Given the description of an element on the screen output the (x, y) to click on. 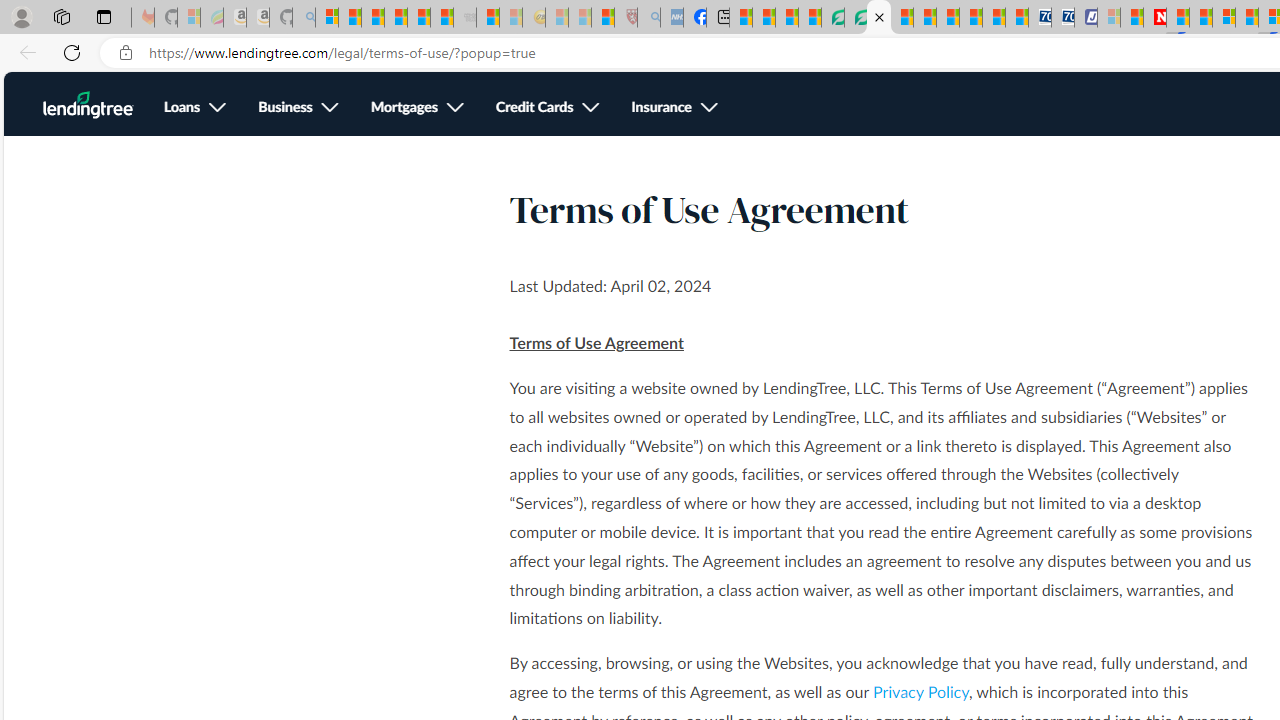
Insurance, see more (675, 107)
Cheap Hotels - Save70.com (1062, 17)
Privacy Policy (919, 692)
New Report Confirms 2023 Was Record Hot | Watch (419, 17)
Latest Politics News & Archive | Newsweek.com (1155, 17)
